Given the description of an element on the screen output the (x, y) to click on. 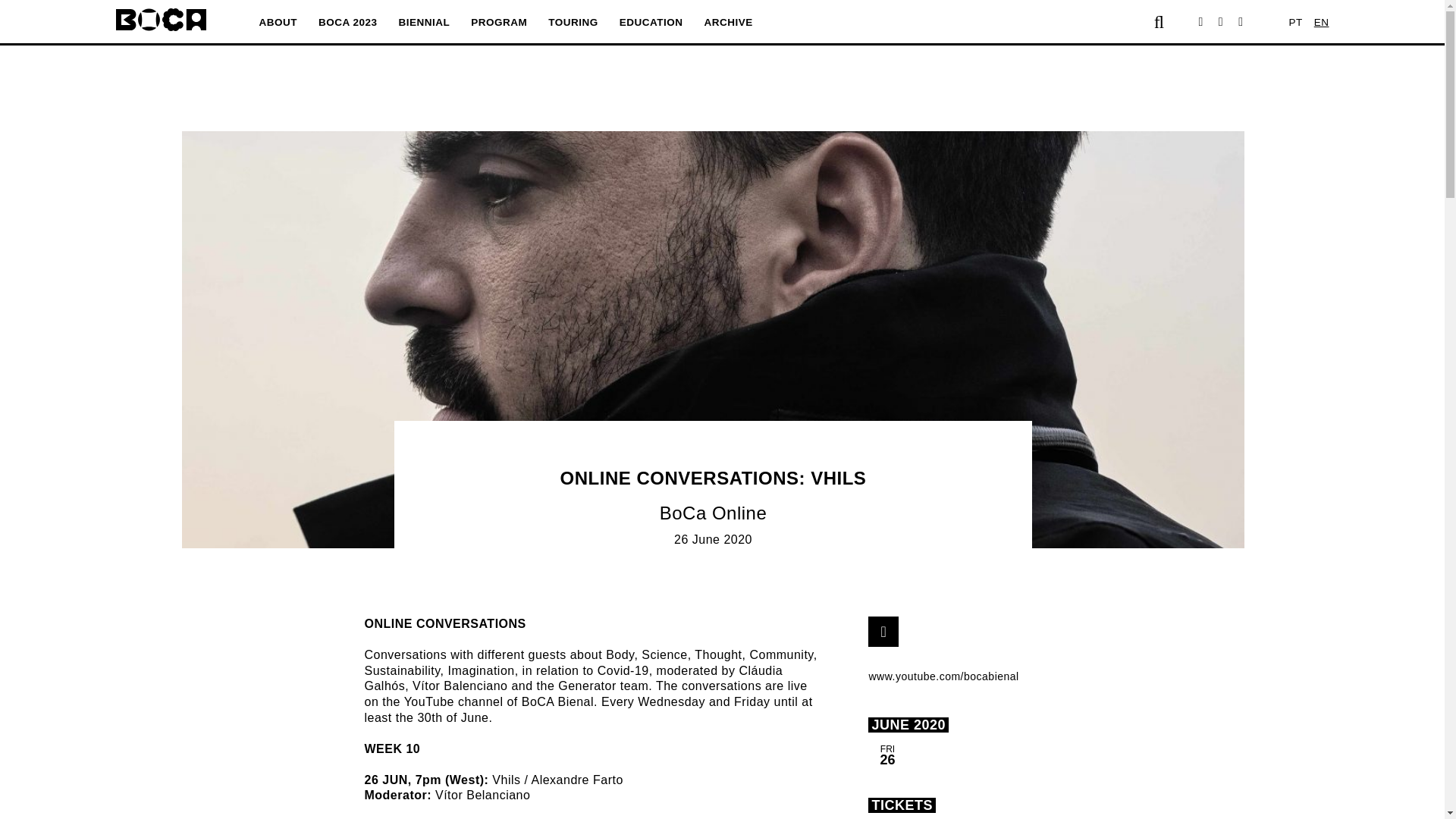
ABOUT (278, 21)
BIENNIAL (424, 21)
PROGRAM (498, 21)
TOURING (573, 21)
ARCHIVE (728, 21)
BOCA 2023 (347, 21)
EDUCATION (650, 21)
